Given the description of an element on the screen output the (x, y) to click on. 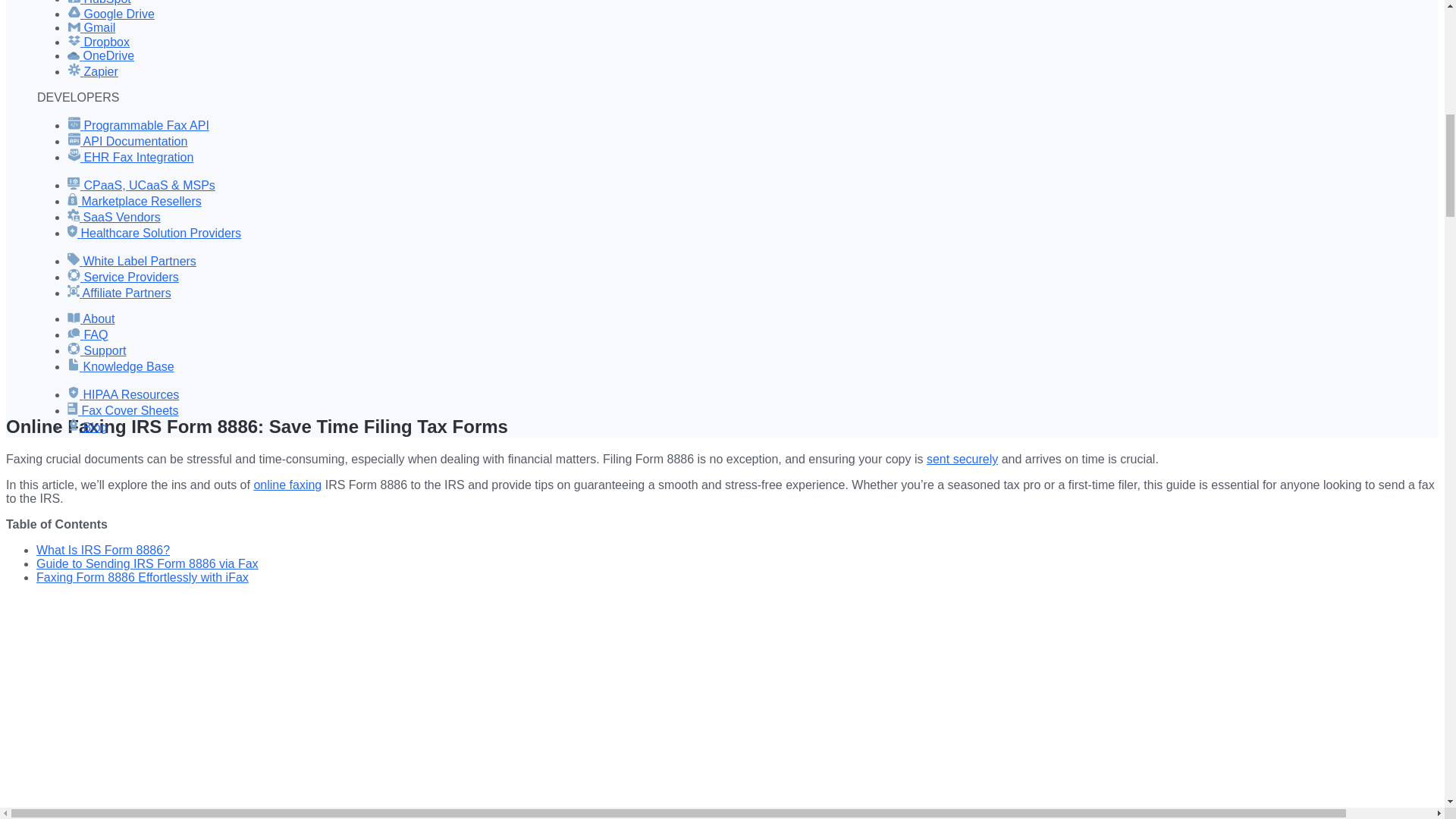
Dropbox (97, 42)
Gmail (90, 27)
Google Drive (110, 13)
Zapier (91, 71)
HubSpot (98, 2)
OneDrive (99, 55)
